Given the description of an element on the screen output the (x, y) to click on. 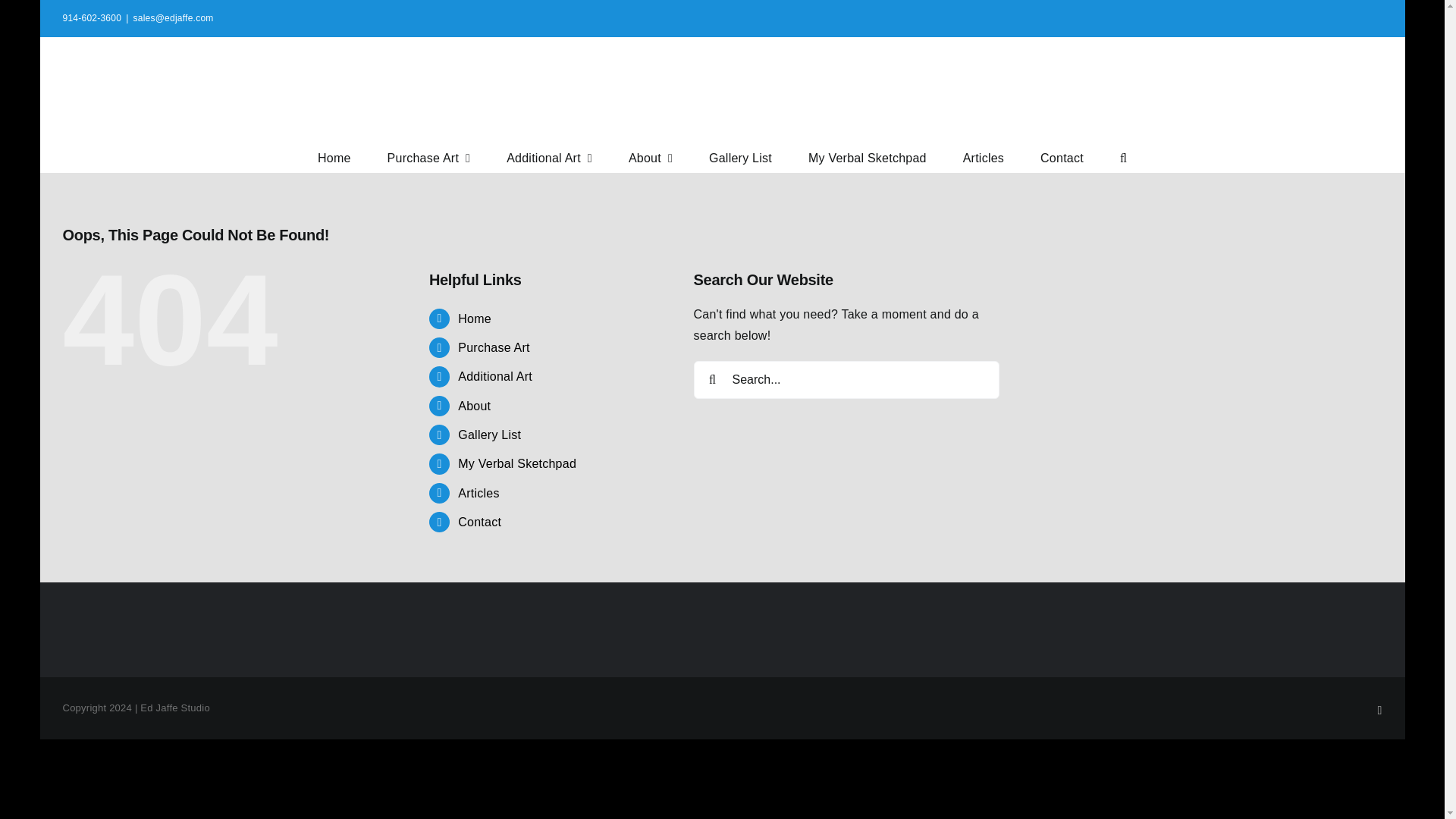
Additional Art (549, 156)
Home (333, 156)
Contact (1062, 156)
My Verbal Sketchpad (517, 463)
Gallery List (740, 156)
Articles (478, 492)
My Verbal Sketchpad (867, 156)
Home (475, 318)
Contact (479, 521)
Additional Art (495, 376)
Articles (983, 156)
Purchase Art (493, 347)
Gallery List (489, 434)
About (650, 156)
About (474, 405)
